Given the description of an element on the screen output the (x, y) to click on. 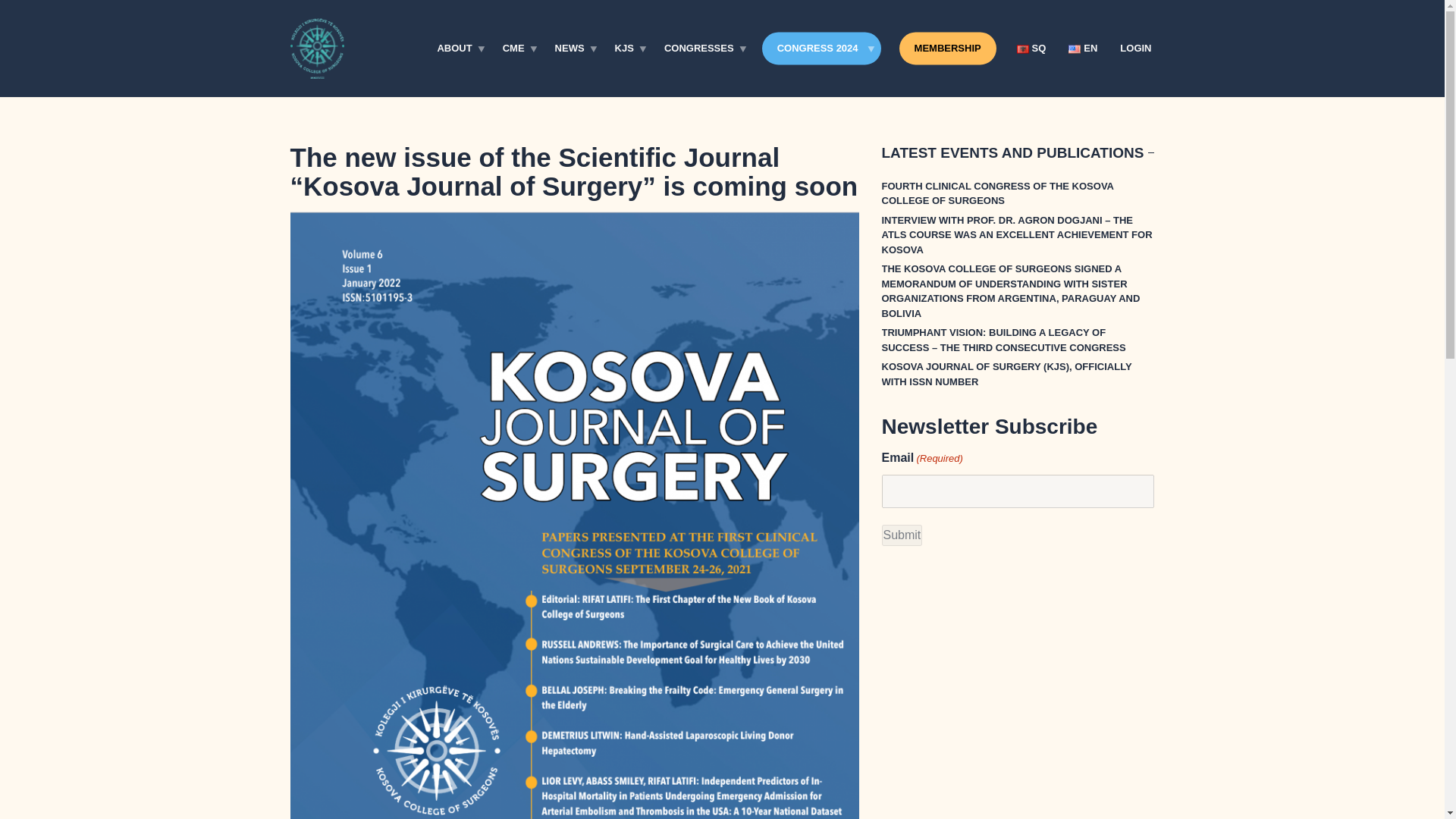
About (457, 47)
CME (517, 47)
CME (517, 47)
ABOUT (457, 47)
Submit (900, 535)
NEWS (573, 47)
